Given the description of an element on the screen output the (x, y) to click on. 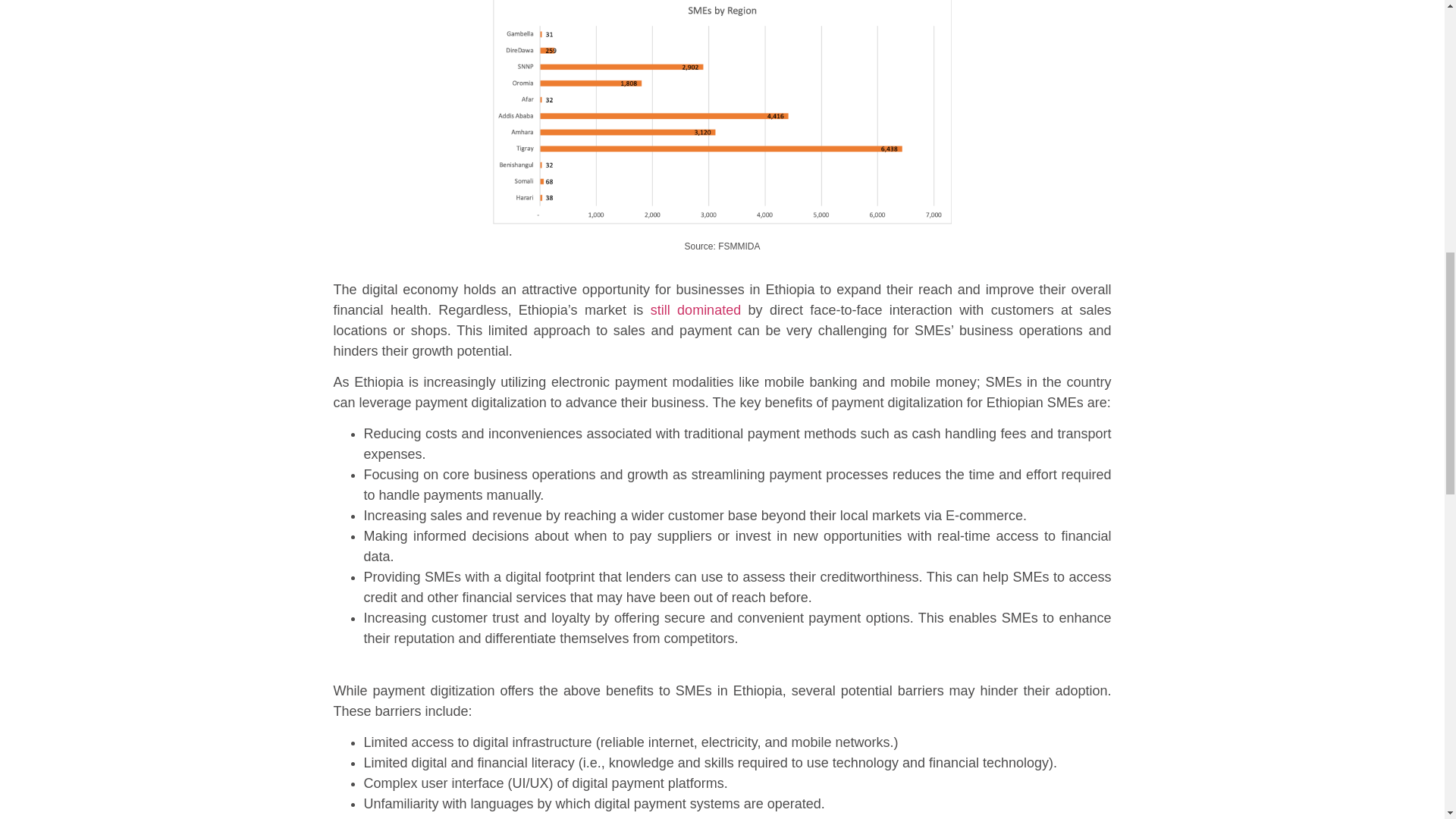
still dominated (692, 309)
